Given the description of an element on the screen output the (x, y) to click on. 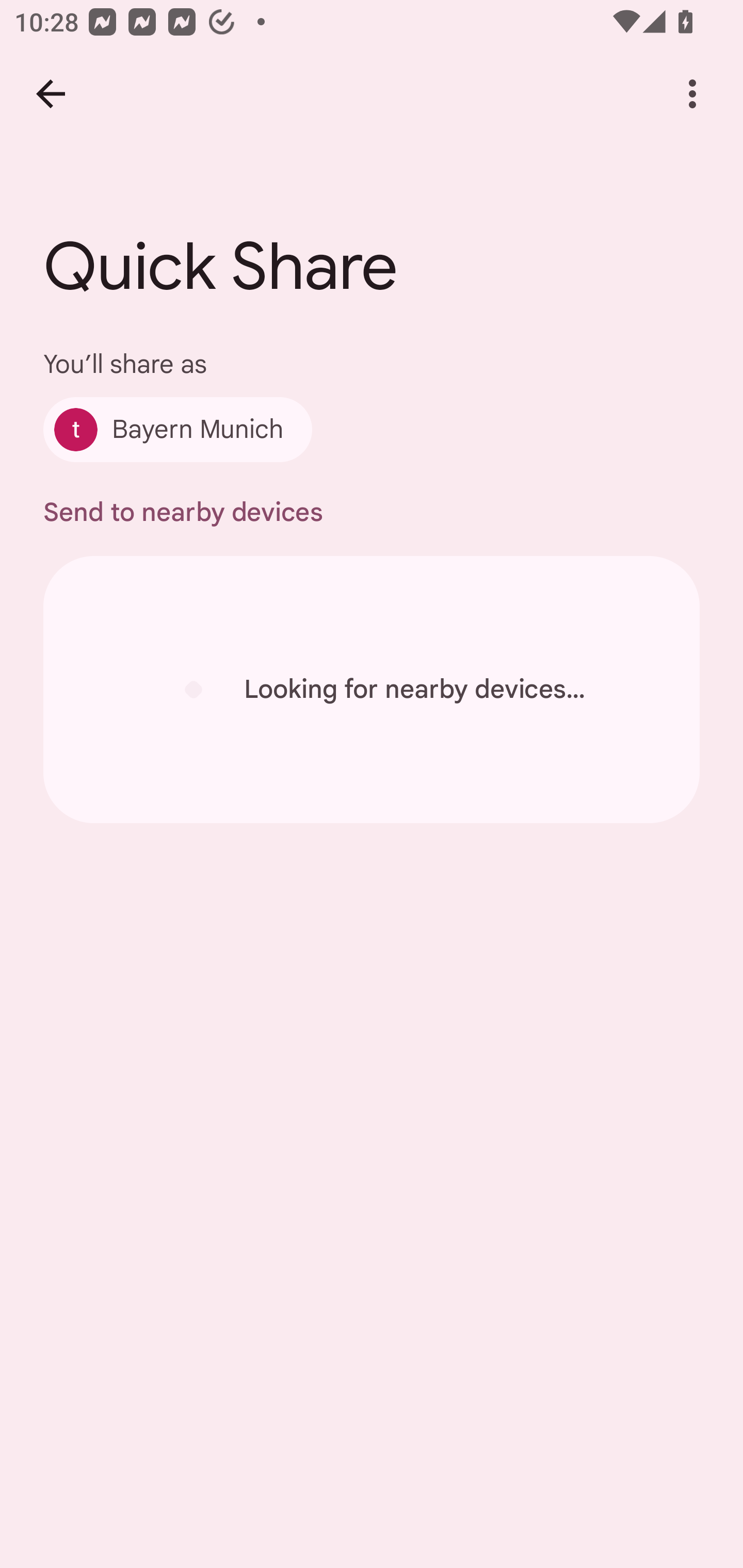
Back (50, 93)
More (692, 93)
Bayern Munich (177, 429)
